Given the description of an element on the screen output the (x, y) to click on. 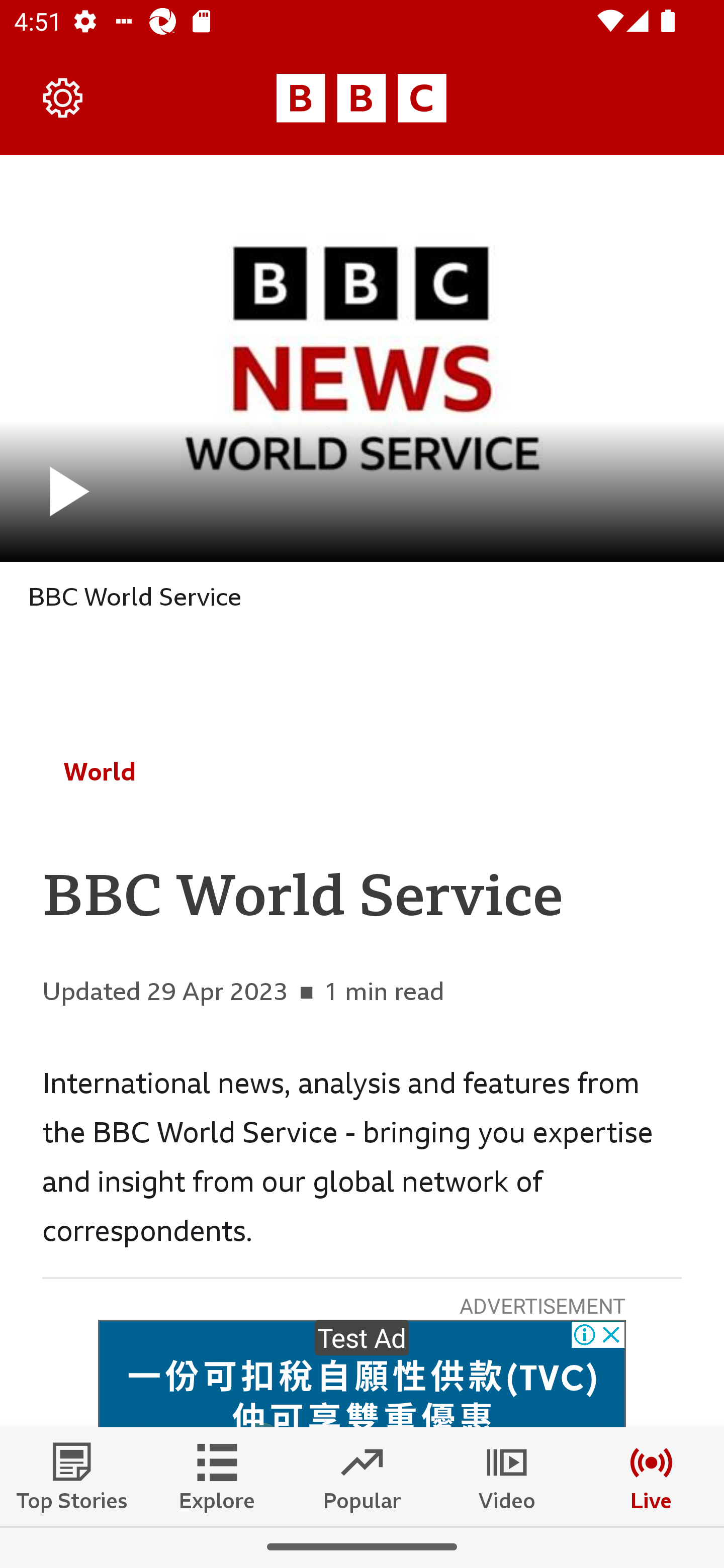
Settings (63, 97)
play fullscreen (362, 358)
World (99, 771)
Top Stories (72, 1475)
Explore (216, 1475)
Popular (361, 1475)
Video (506, 1475)
